Given the description of an element on the screen output the (x, y) to click on. 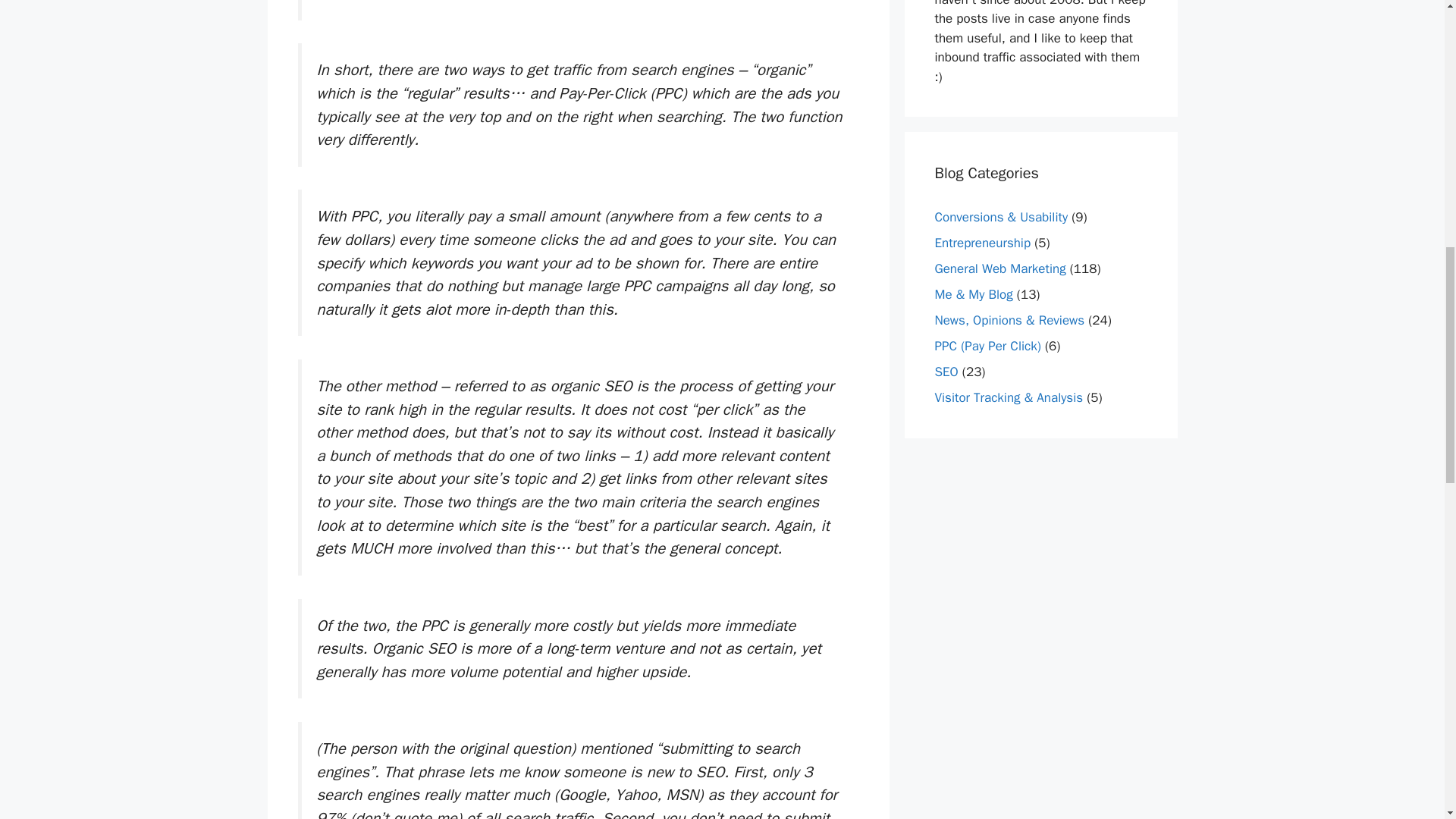
Entrepreneurship (982, 242)
General Web Marketing (999, 268)
SEO (946, 371)
